Given the description of an element on the screen output the (x, y) to click on. 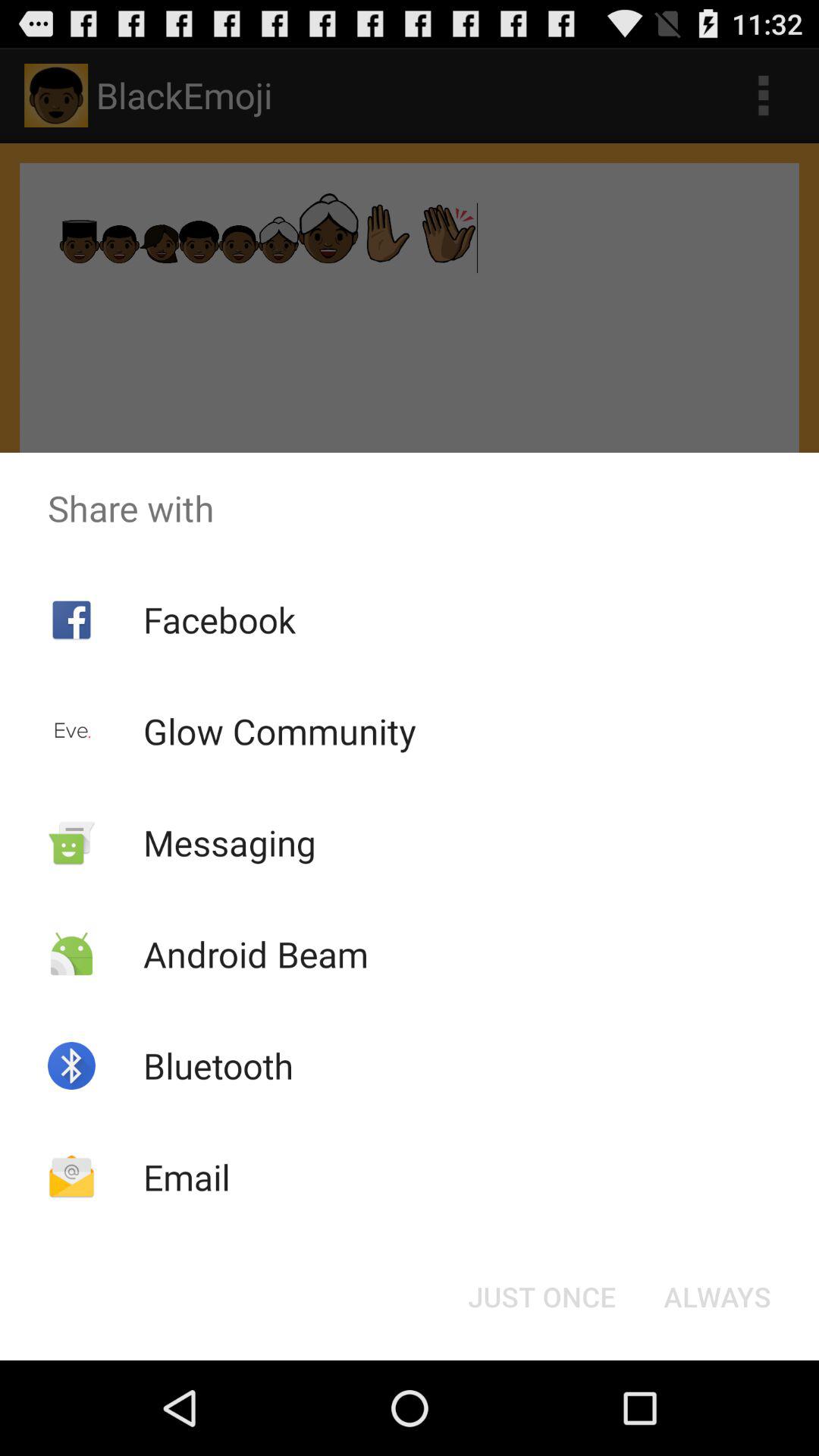
turn on email (186, 1176)
